Given the description of an element on the screen output the (x, y) to click on. 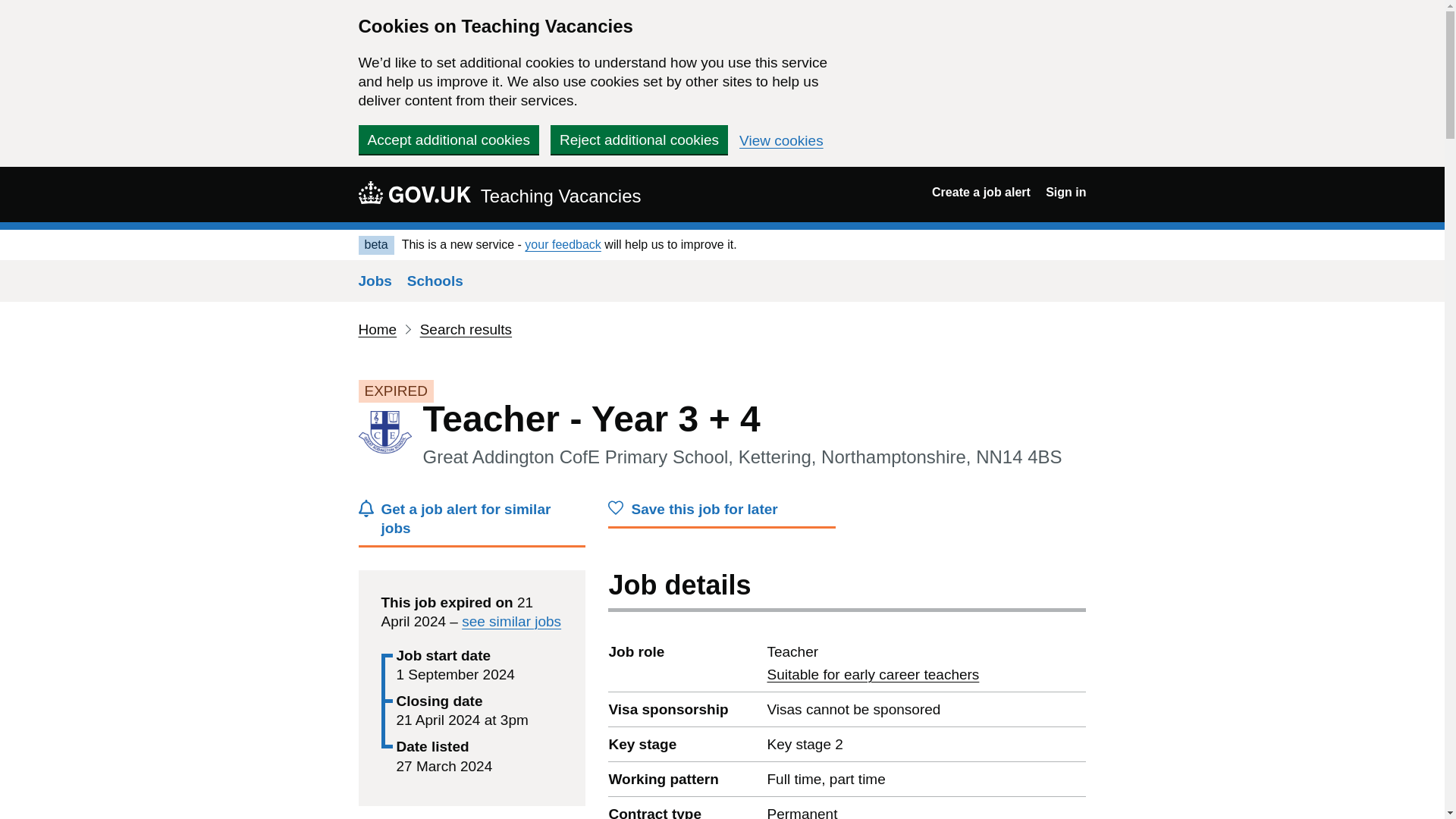
see similar jobs (510, 621)
Create a job alert (980, 192)
Home (872, 674)
View cookies (377, 329)
Search results (781, 140)
GOV.UK (466, 329)
Reject additional cookies (414, 191)
Skip to main content (639, 139)
